Given the description of an element on the screen output the (x, y) to click on. 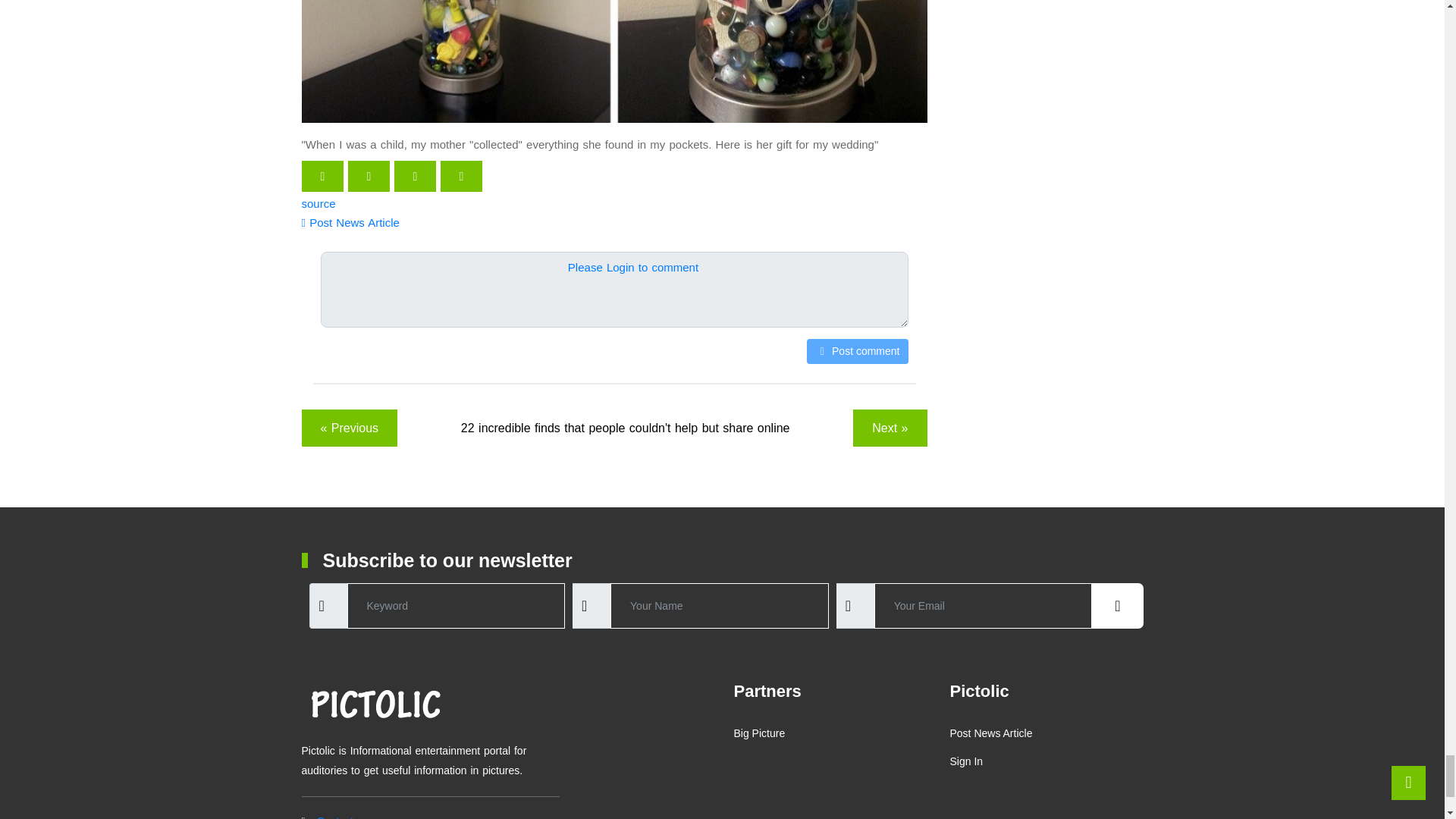
Please Login to comment (632, 267)
Post News Article (349, 222)
Post comment (856, 351)
source (318, 203)
